Given the description of an element on the screen output the (x, y) to click on. 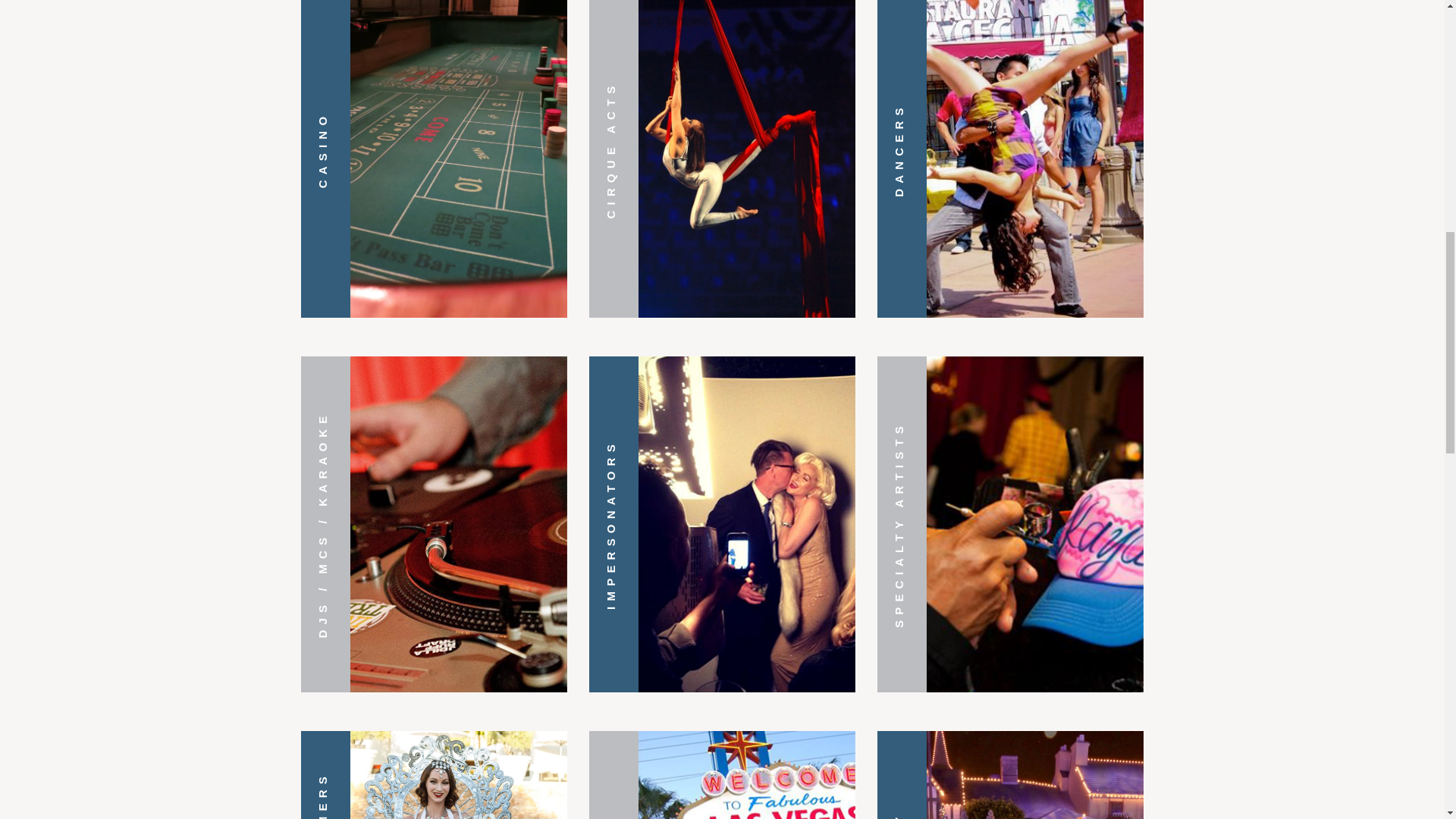
WINTER HOLIDAY (1009, 775)
THEMES (722, 775)
SPECIALTY PERFORMERS (434, 775)
